Given the description of an element on the screen output the (x, y) to click on. 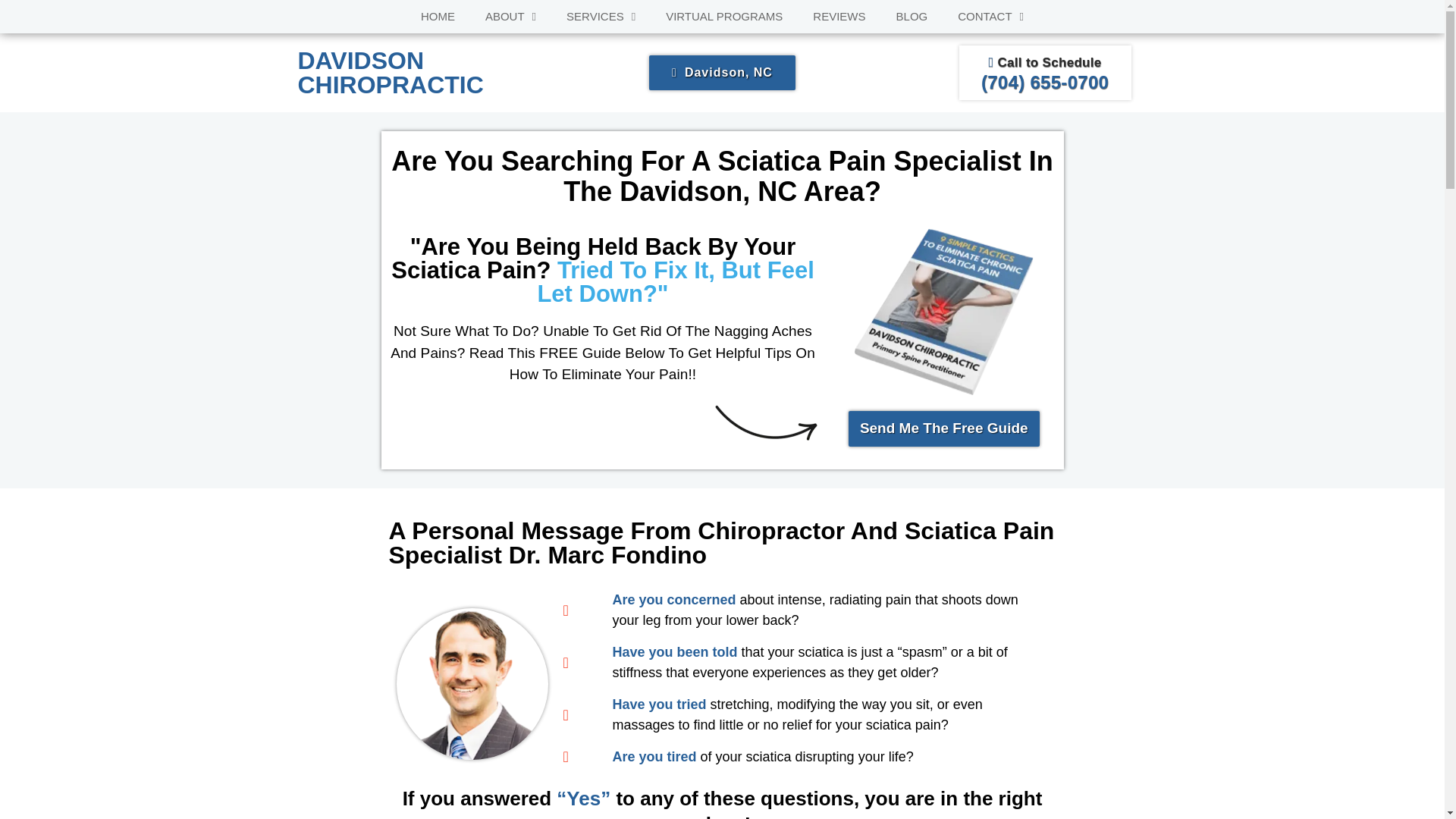
SERVICES (600, 16)
VIRTUAL PROGRAMS (723, 16)
BLOG (911, 16)
ABOUT (510, 16)
Skip to content (11, 31)
REVIEWS (838, 16)
HOME (438, 16)
CONTACT (990, 16)
